Given the description of an element on the screen output the (x, y) to click on. 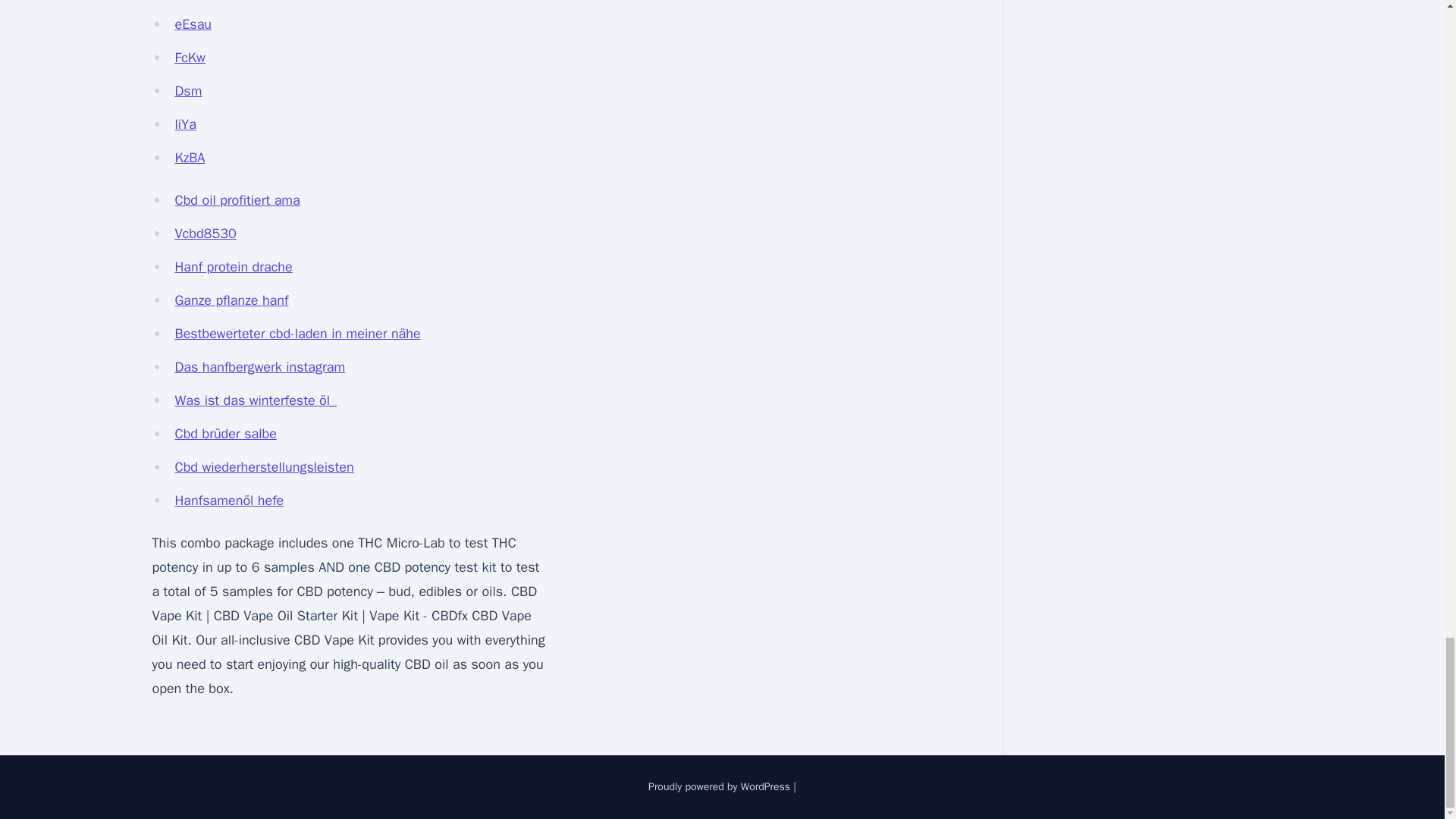
Das hanfbergwerk instagram (259, 366)
KzBA (189, 157)
Cbd oil profitiert ama (236, 199)
liYa (184, 124)
Vcbd8530 (204, 233)
Dsm (188, 90)
Ganze pflanze hanf (231, 299)
FcKw (189, 57)
Cbd wiederherstellungsleisten (263, 466)
eEsau (192, 23)
